Given the description of an element on the screen output the (x, y) to click on. 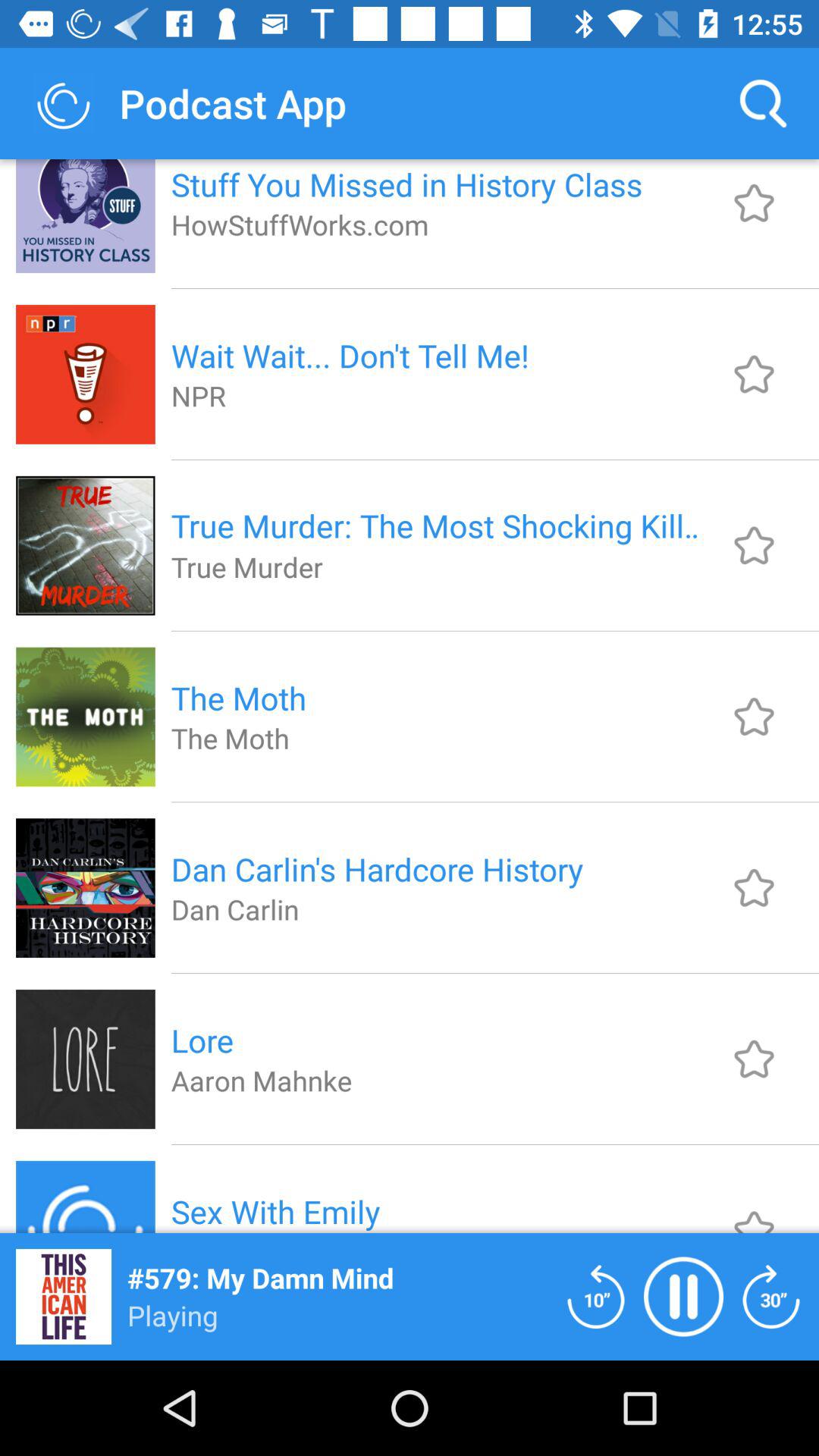
favourite (754, 545)
